Given the description of an element on the screen output the (x, y) to click on. 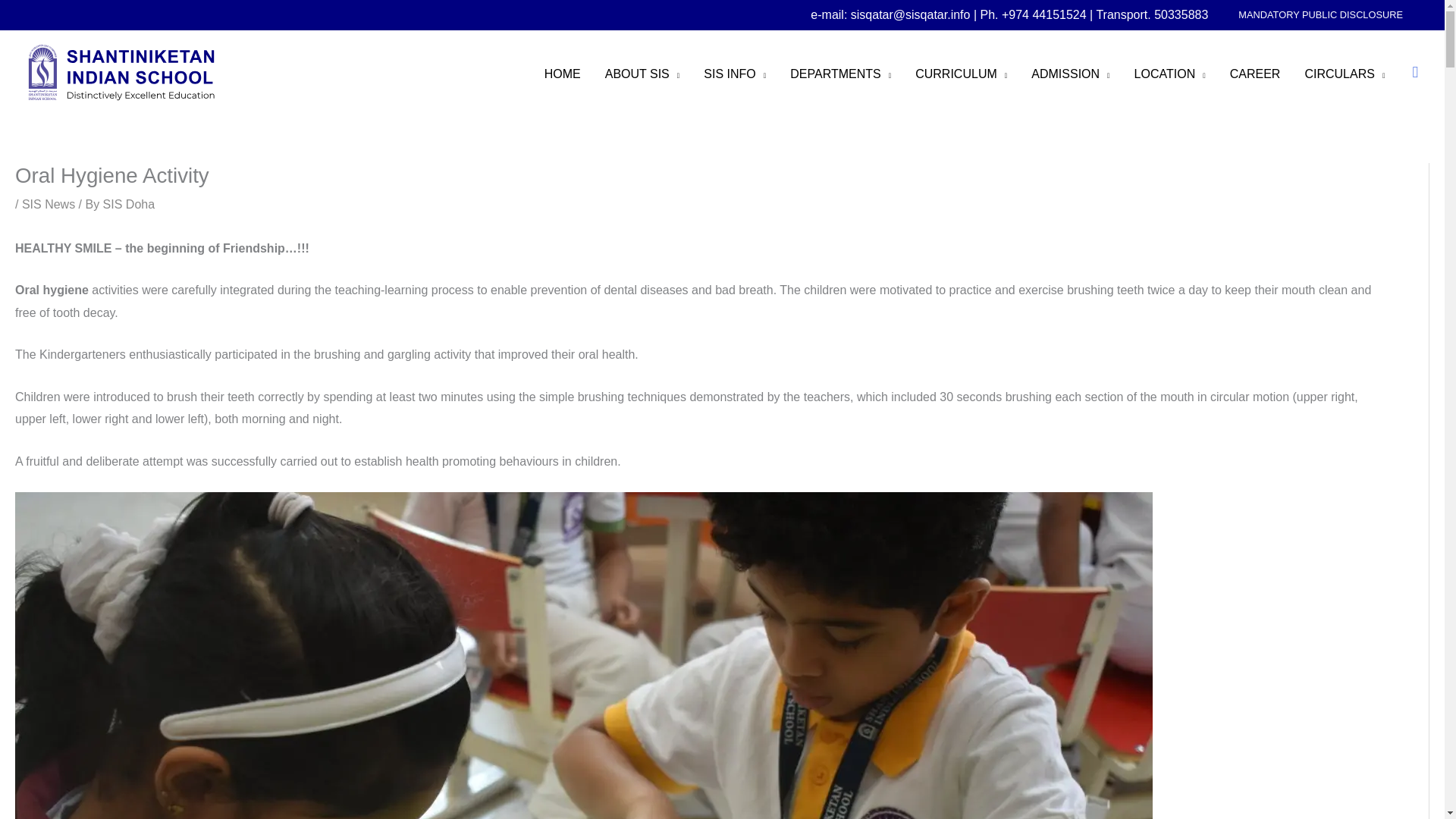
HOME (562, 74)
ABOUT SIS (642, 74)
DEPARTMENTS (839, 74)
1997 (1169, 74)
MANDATORY PUBLIC DISCLOSURE (1320, 15)
View all posts by SIS Doha (128, 204)
SIS INFO (734, 74)
CURRICULUM (960, 74)
